Given the description of an element on the screen output the (x, y) to click on. 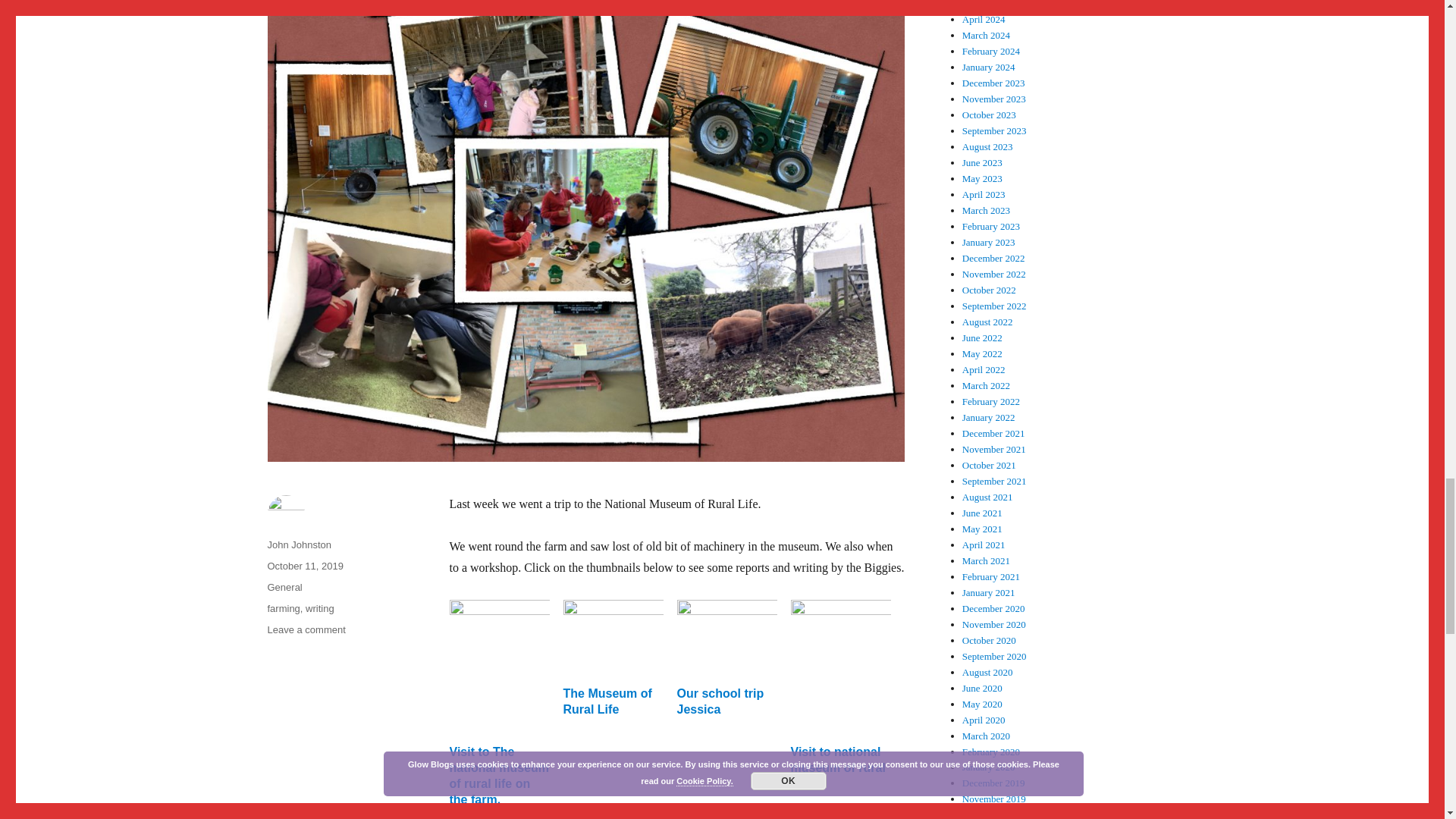
Visit to The national museum of rural life on the farm. (498, 775)
Visit to The national museum of rural life on the farm. (498, 775)
The Museum of Rural Life (606, 701)
